Given the description of an element on the screen output the (x, y) to click on. 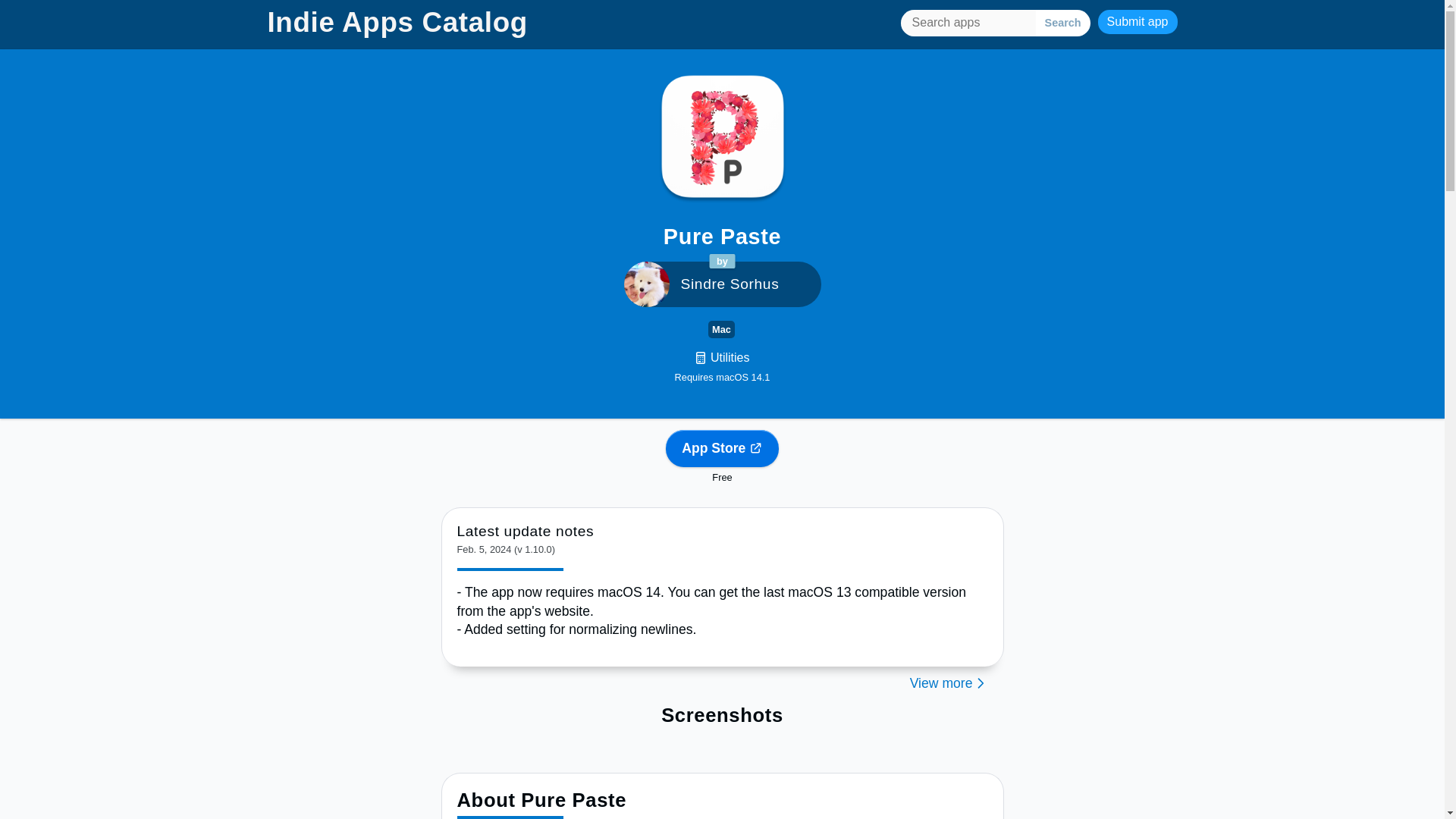
Utilities (721, 357)
Submit app (1137, 21)
App Store (721, 447)
Search (1062, 22)
View more (722, 683)
Indie Apps Catalog (396, 21)
Search (1062, 22)
